Given the description of an element on the screen output the (x, y) to click on. 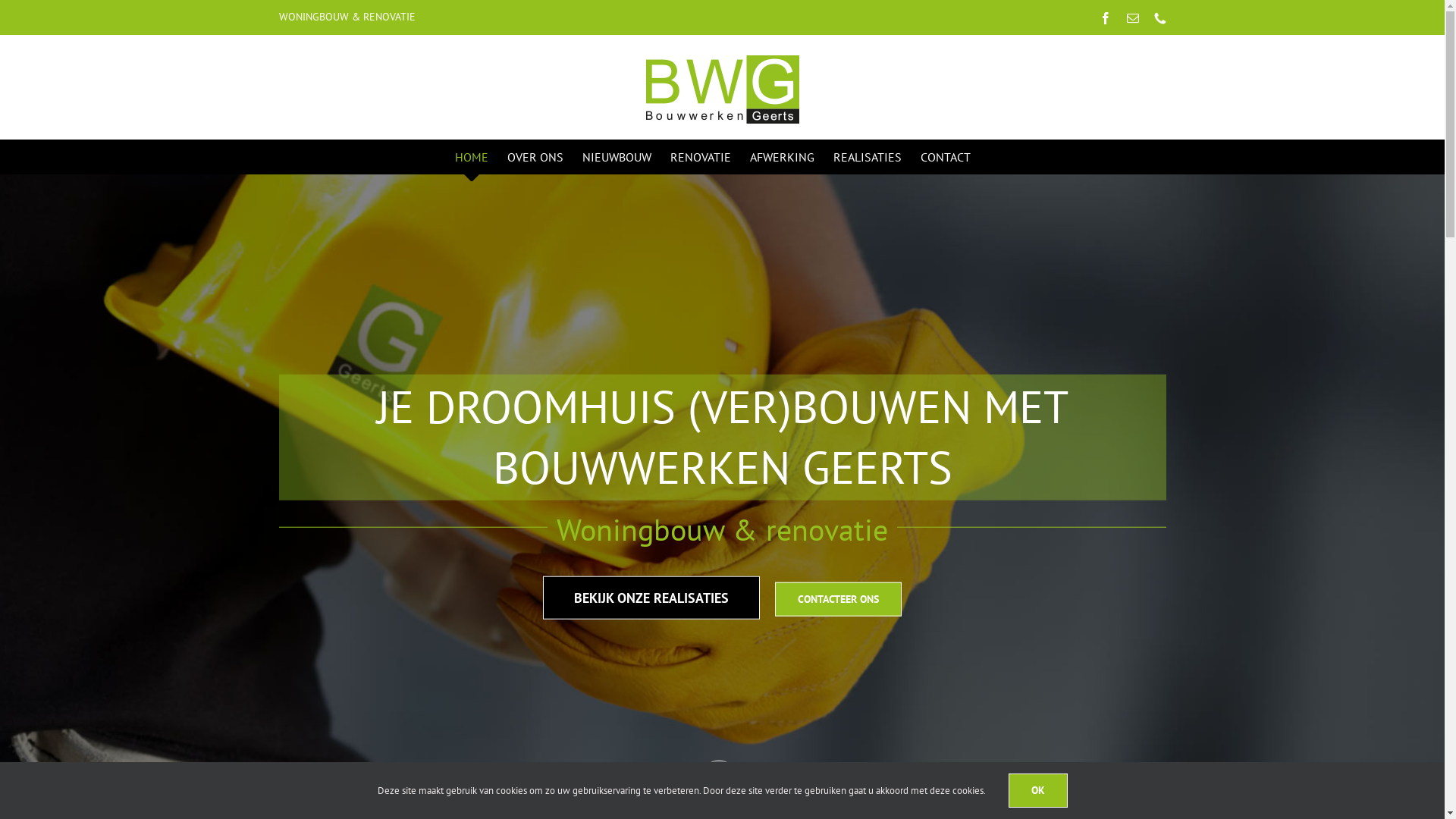
E-mail Element type: text (1132, 18)
OK Element type: text (1037, 790)
Facebook Element type: text (1105, 18)
REALISATIES Element type: text (867, 156)
RENOVATIE Element type: text (700, 156)
HOME Element type: text (471, 156)
OVER ONS Element type: text (535, 156)
NIEUWBOUW Element type: text (616, 156)
BEKIJK ONZE REALISATIES Element type: text (650, 596)
Tel.: 0494 30 62 96 Element type: text (1160, 18)
CONTACT Element type: text (945, 156)
AFWERKING Element type: text (781, 156)
CONTACTEER ONS Element type: text (838, 598)
